Given the description of an element on the screen output the (x, y) to click on. 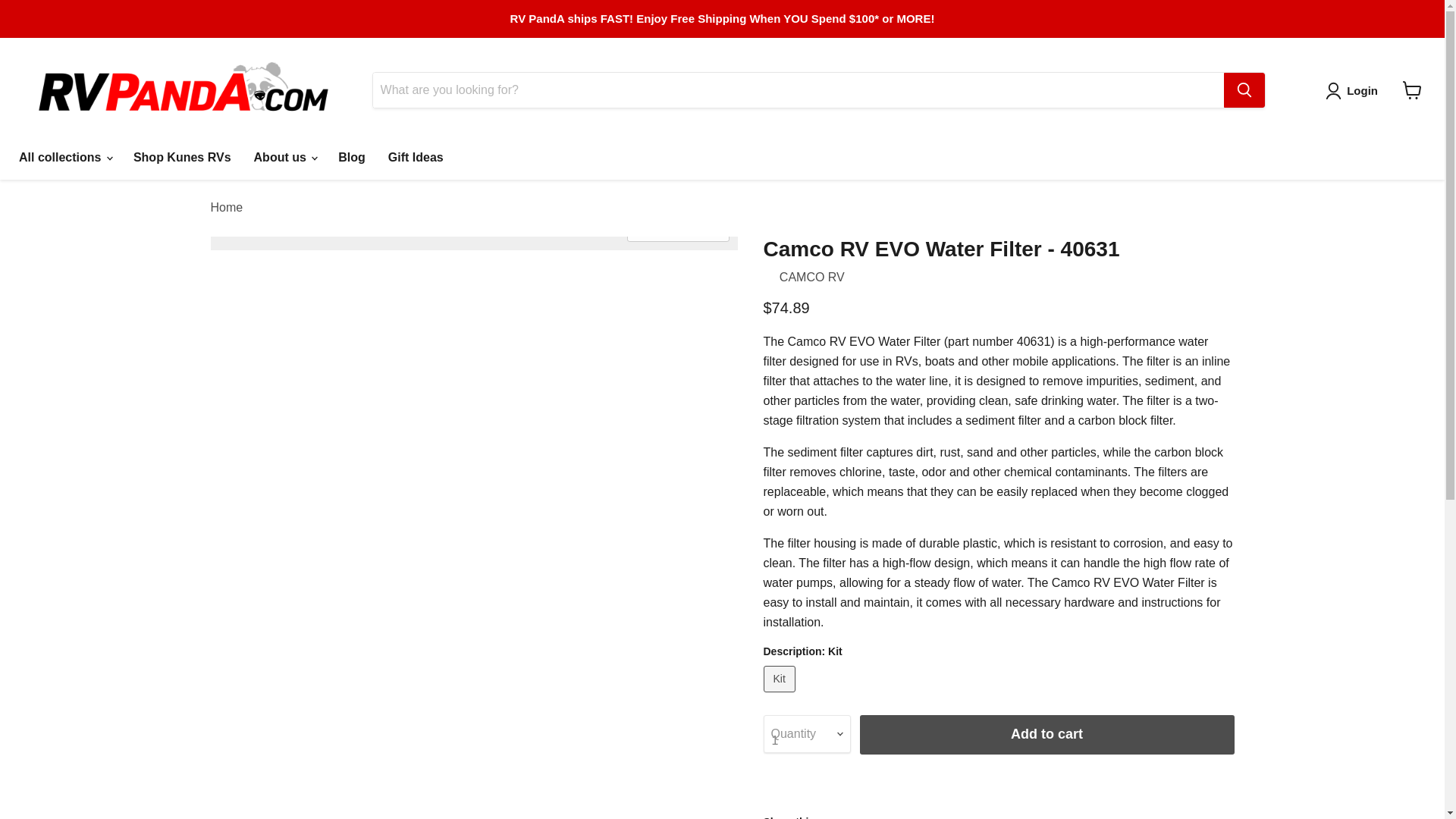
View cart (1411, 90)
CAMCO RV (811, 277)
Login (1354, 90)
